Given the description of an element on the screen output the (x, y) to click on. 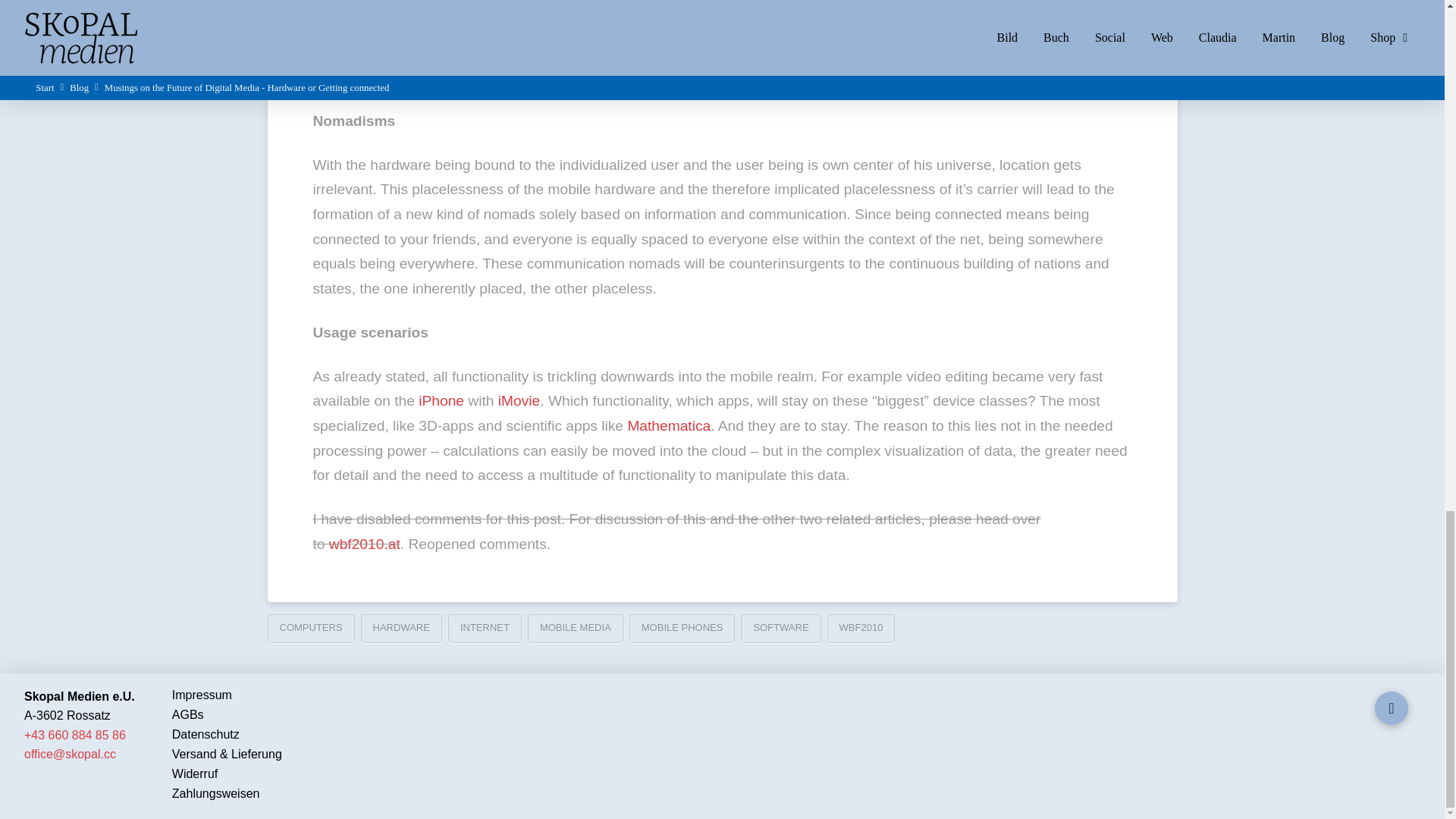
HARDWARE (401, 628)
wbf2010.at (364, 544)
COMPUTERS (309, 628)
Mathematica (668, 425)
iPhone (441, 400)
iPhone (441, 400)
iMovie (518, 400)
